Given the description of an element on the screen output the (x, y) to click on. 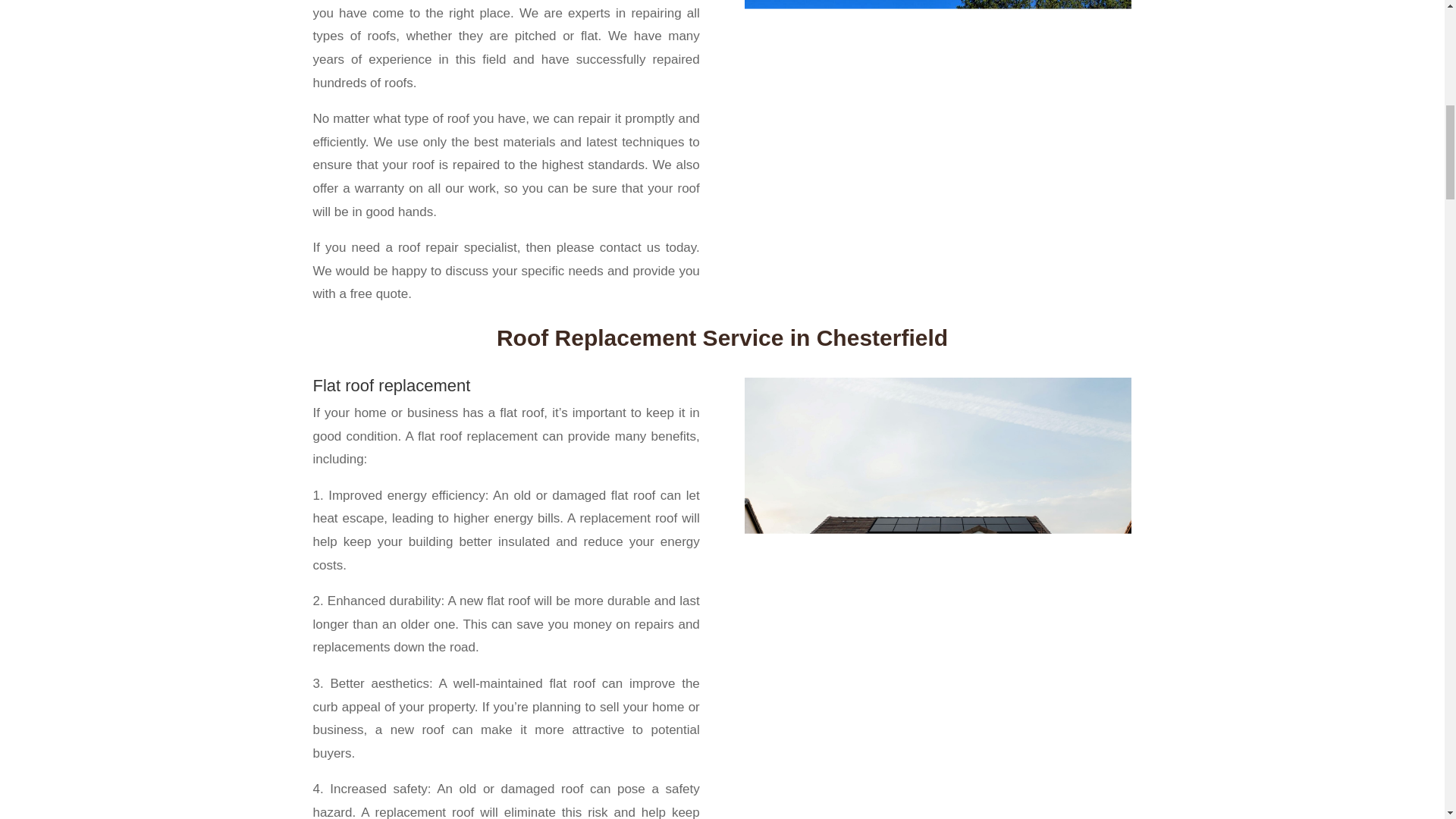
house-garage (937, 135)
